Given the description of an element on the screen output the (x, y) to click on. 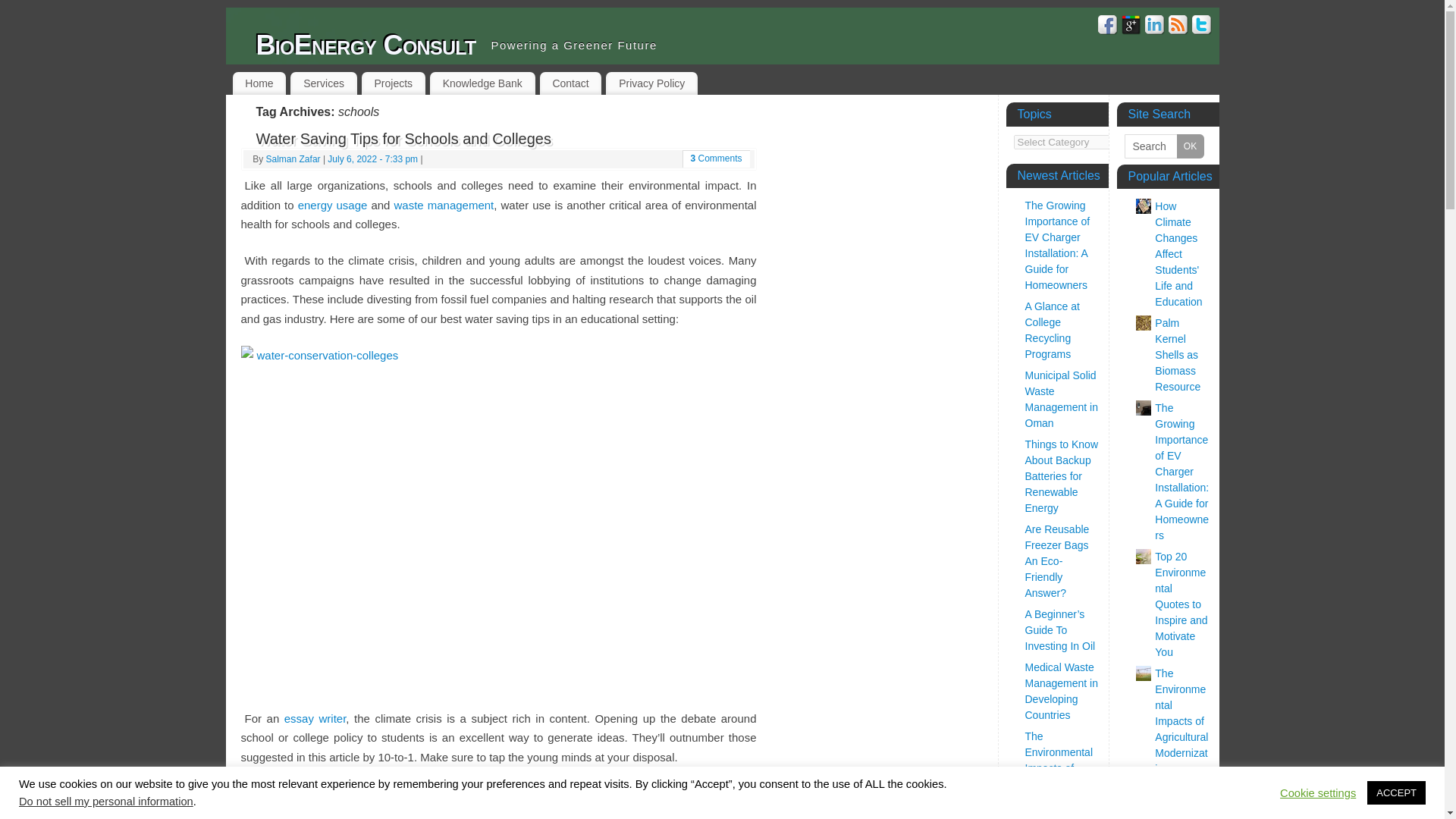
3 Comments (715, 158)
Permalink to Water Saving Tips for Schools and Colleges (403, 138)
essay writer (314, 717)
BioEnergy Consult (366, 44)
Search (1164, 146)
Home (258, 83)
7:33 pm (372, 158)
OK (1190, 146)
Knowledge Bank (482, 83)
waste management (443, 205)
